Given the description of an element on the screen output the (x, y) to click on. 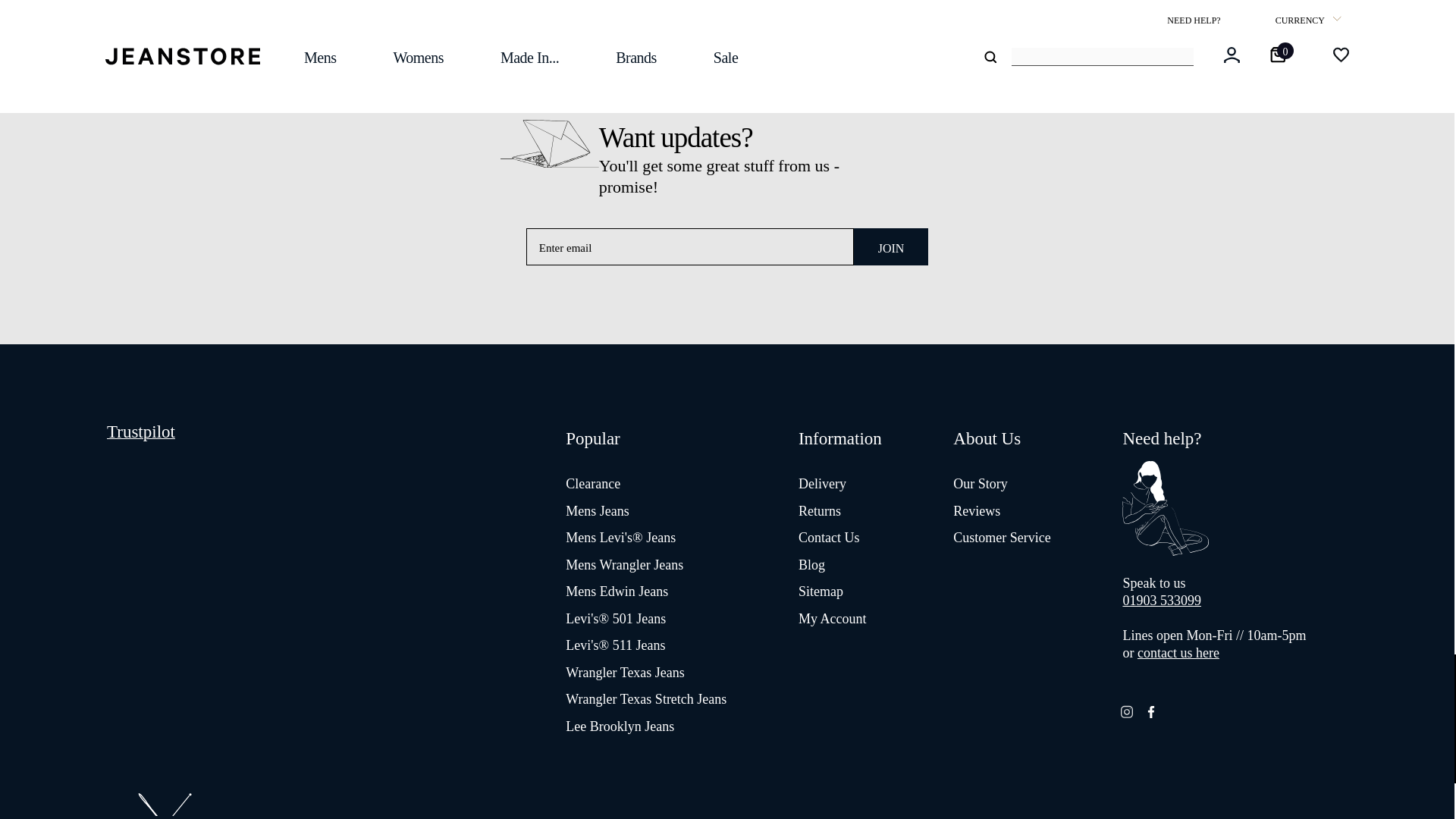
Call us (1161, 600)
Contact Us (1178, 652)
